Given the description of an element on the screen output the (x, y) to click on. 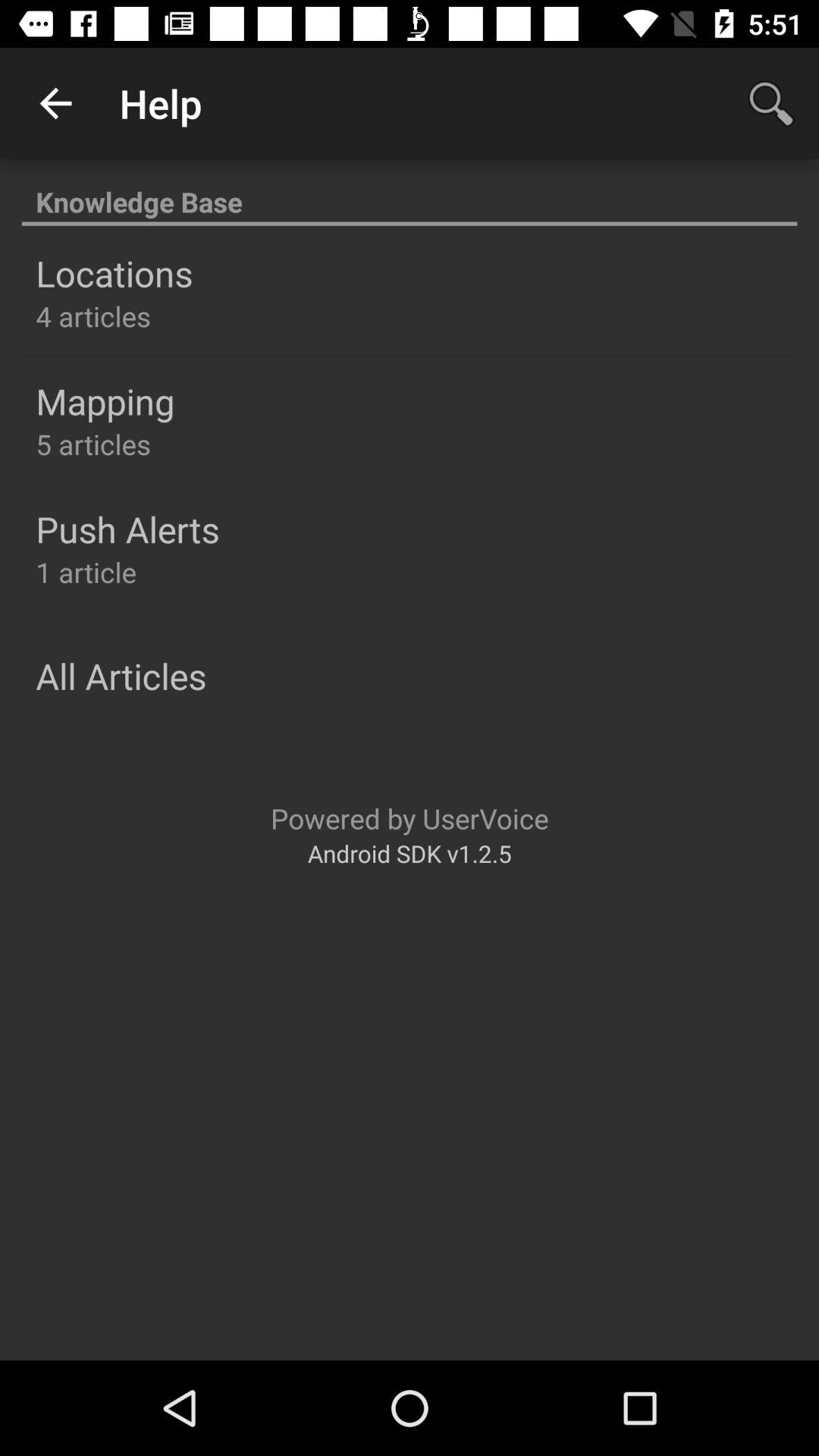
open the icon above the knowledge base icon (55, 103)
